Given the description of an element on the screen output the (x, y) to click on. 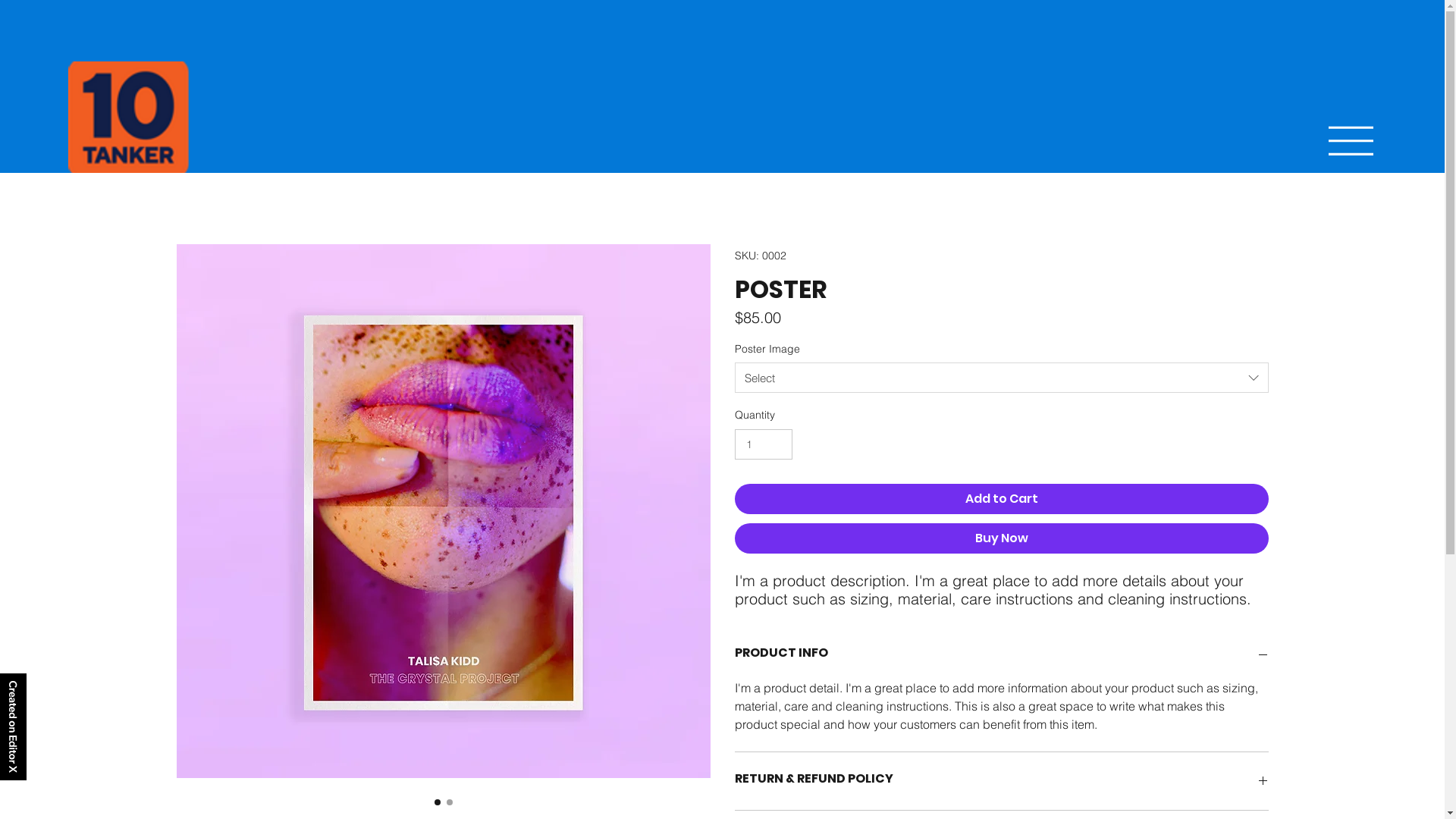
PRODUCT INFO Element type: text (1000, 654)
Add to Cart Element type: text (1000, 498)
Select Element type: text (1000, 377)
RETURN & REFUND POLICY Element type: text (1000, 780)
Buy Now Element type: text (1000, 538)
